Given the description of an element on the screen output the (x, y) to click on. 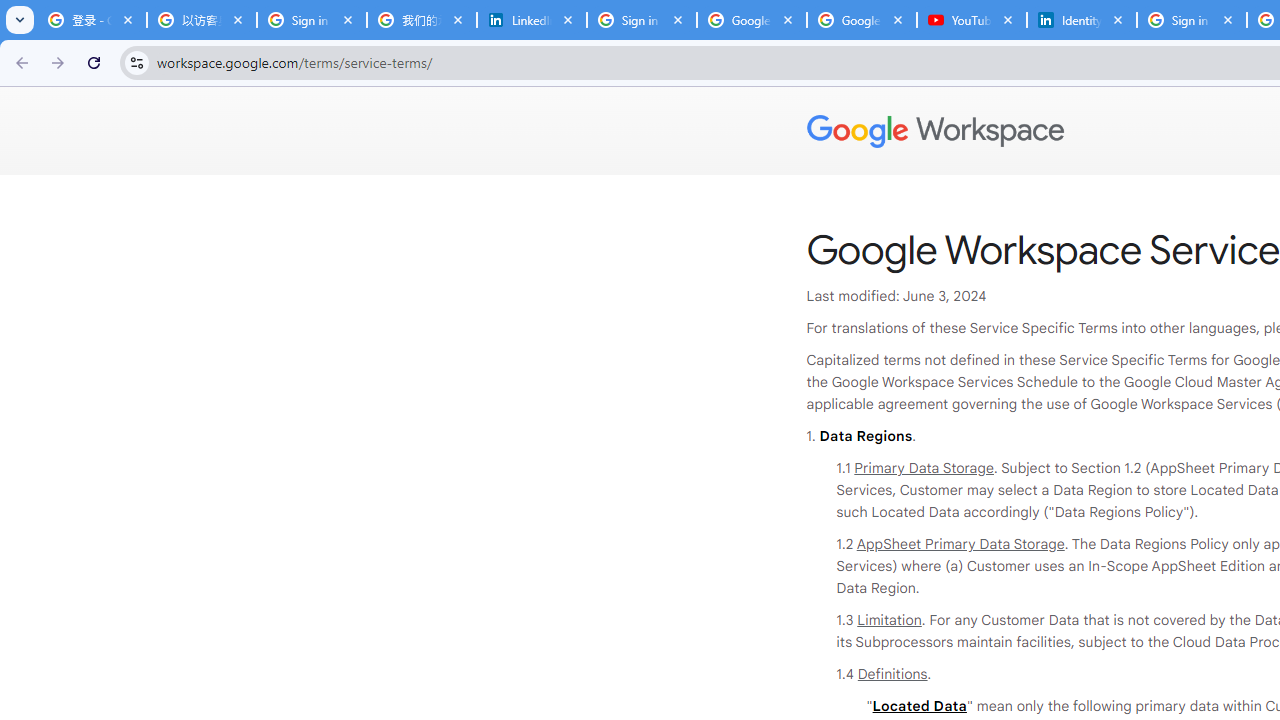
Sign in - Google Accounts (642, 20)
